Given the description of an element on the screen output the (x, y) to click on. 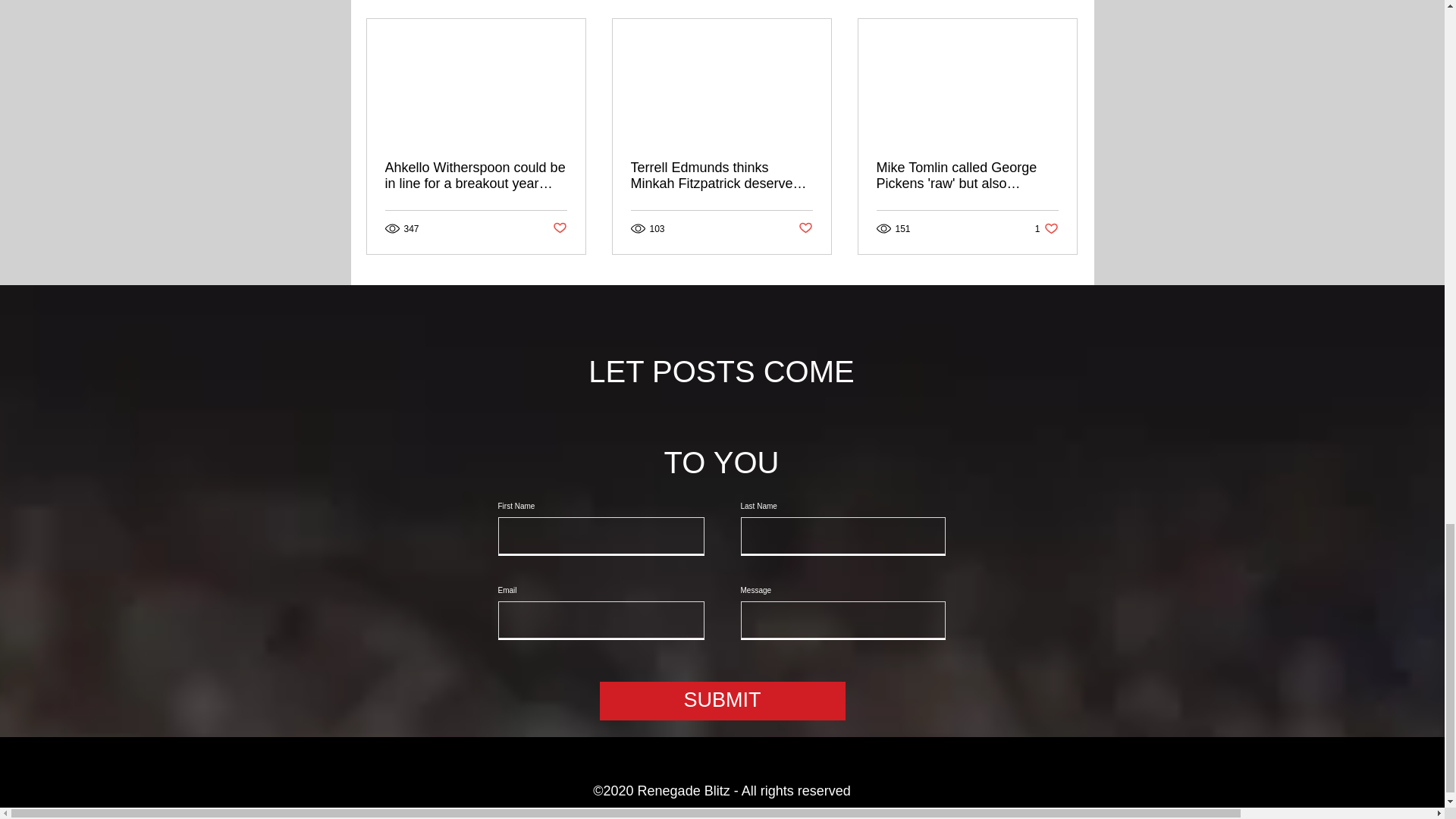
SUBMIT (721, 700)
Post not marked as liked (804, 228)
Post not marked as liked (1046, 228)
See All (558, 228)
